Given the description of an element on the screen output the (x, y) to click on. 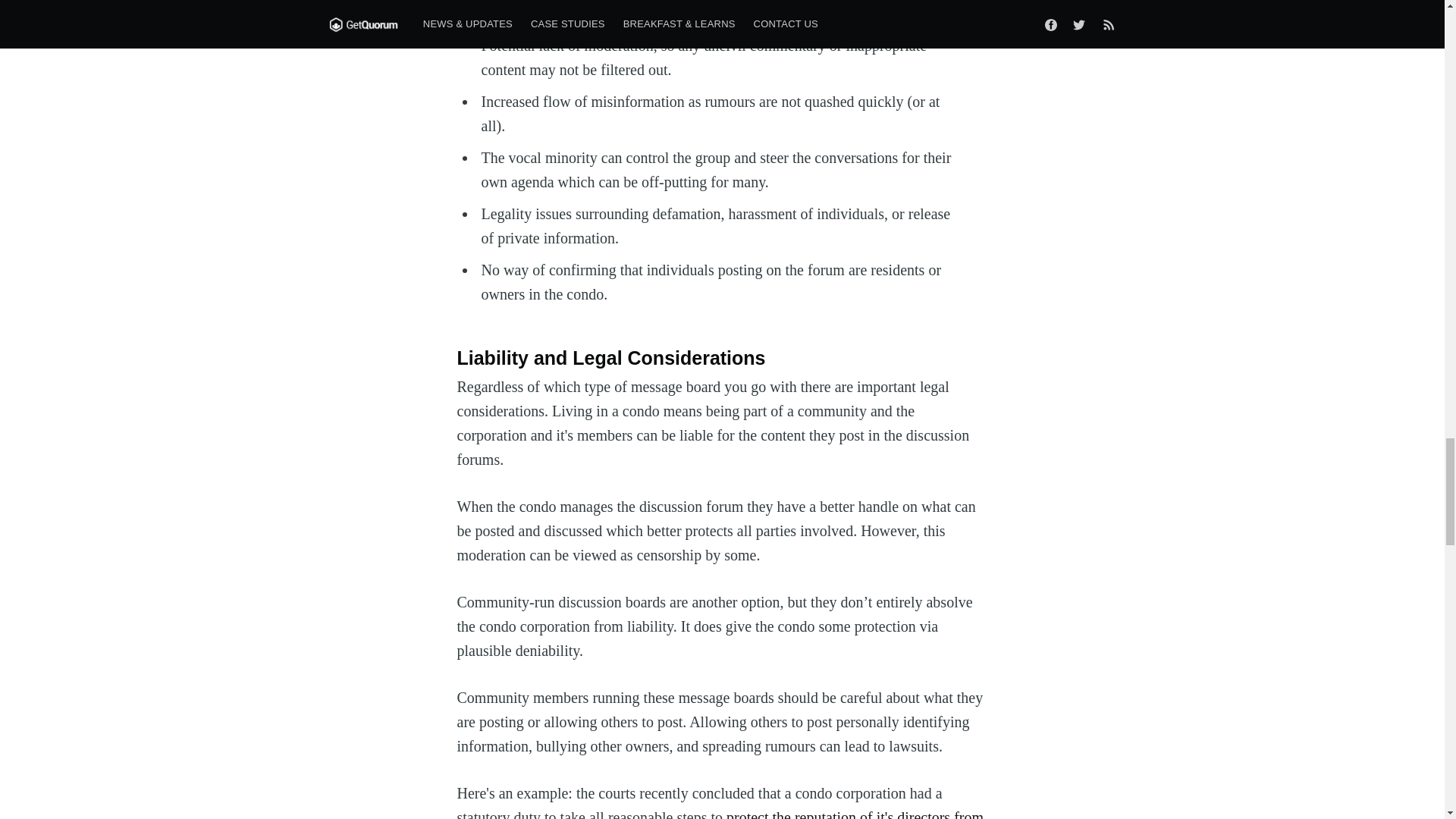
protect the reputation of it's directors from defamation (720, 814)
